Given the description of an element on the screen output the (x, y) to click on. 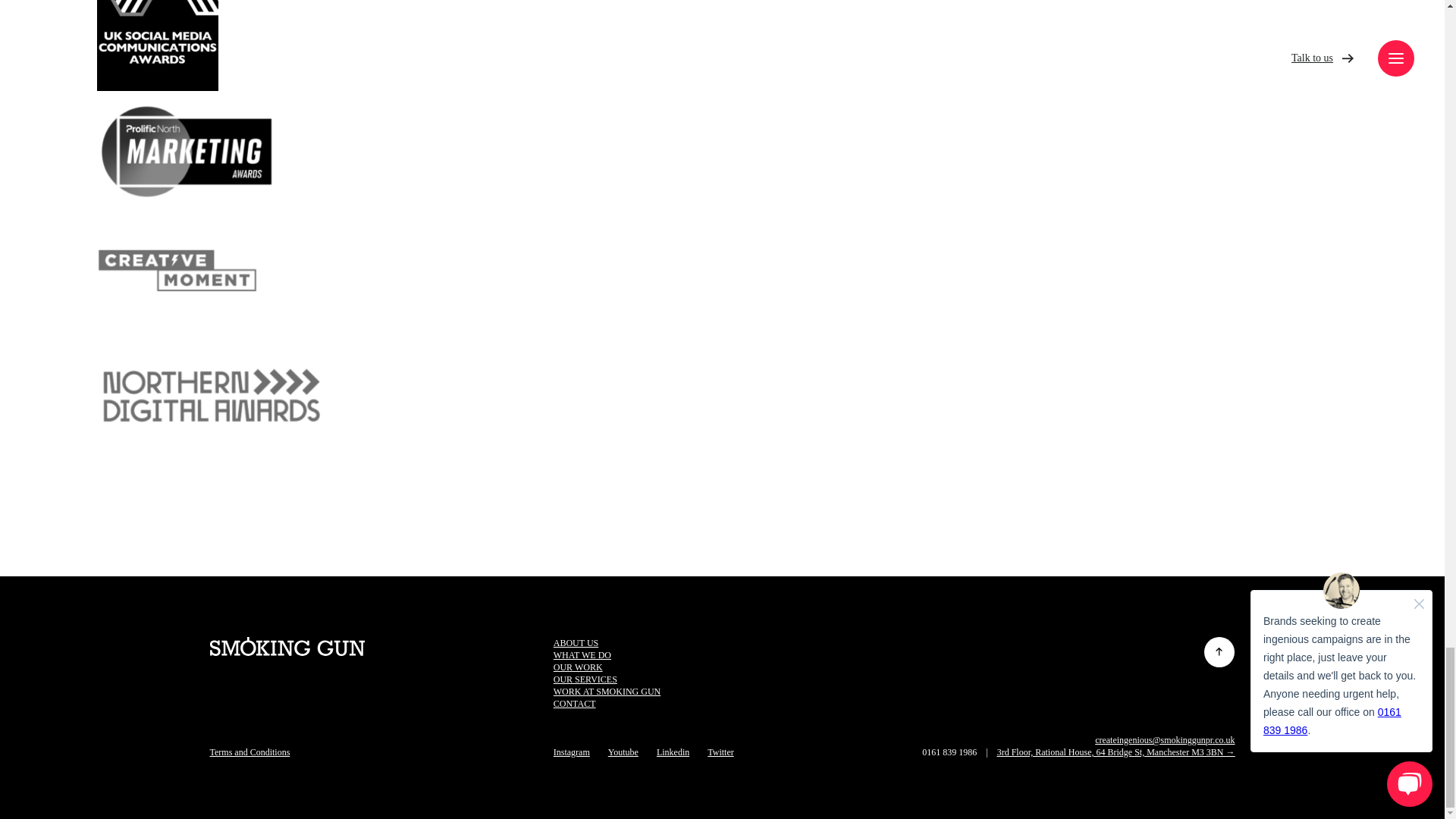
Terms and Conditions (249, 751)
